Given the description of an element on the screen output the (x, y) to click on. 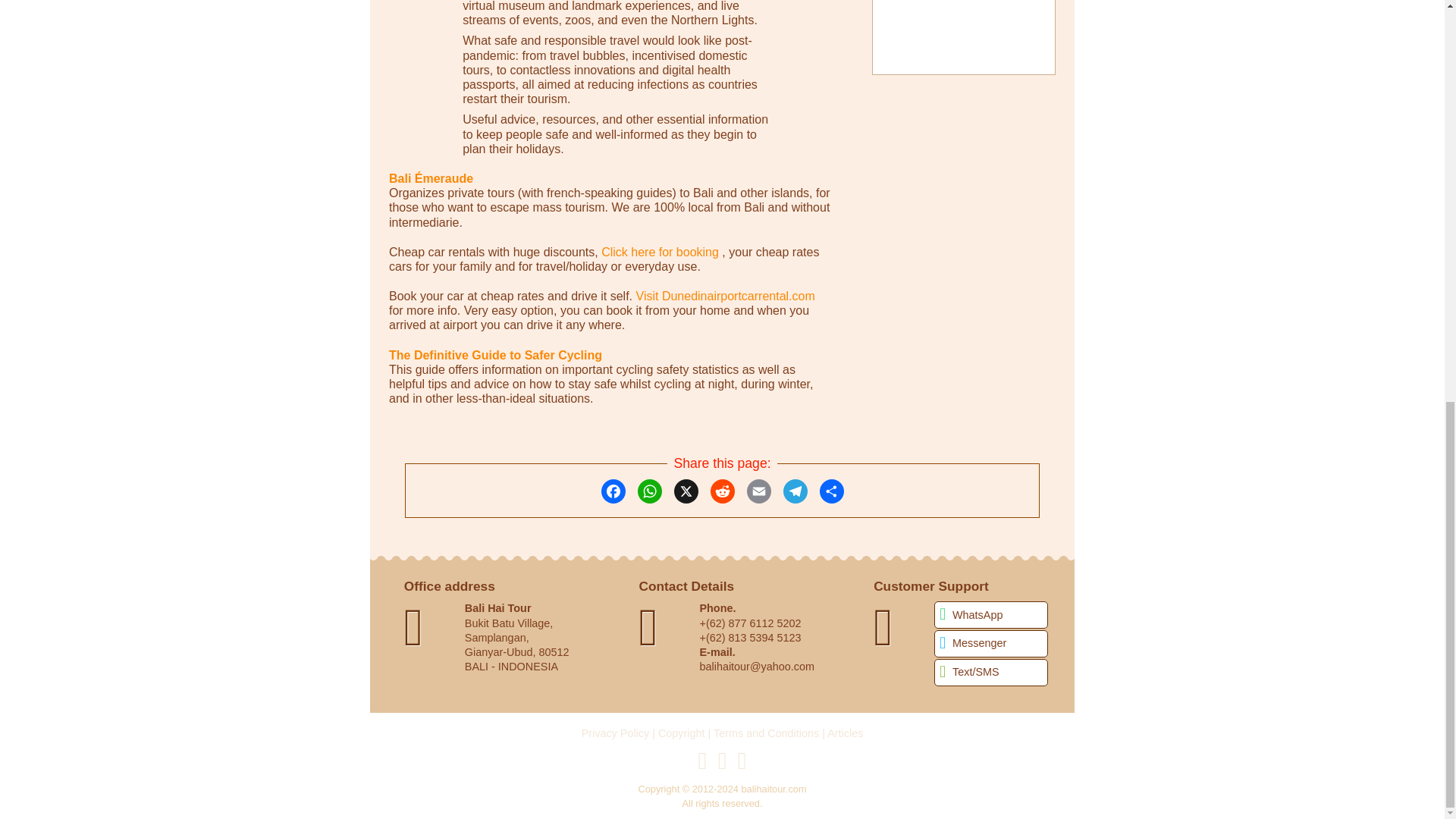
Visit Dunedinairportcarrental.com (723, 295)
x (684, 491)
WhatsApp (649, 491)
Telegram (794, 491)
Click here for booking (660, 251)
The Definitive Guide to Safer Cycling (495, 354)
Facebook (611, 491)
Reddit (721, 491)
Email (757, 491)
